Given the description of an element on the screen output the (x, y) to click on. 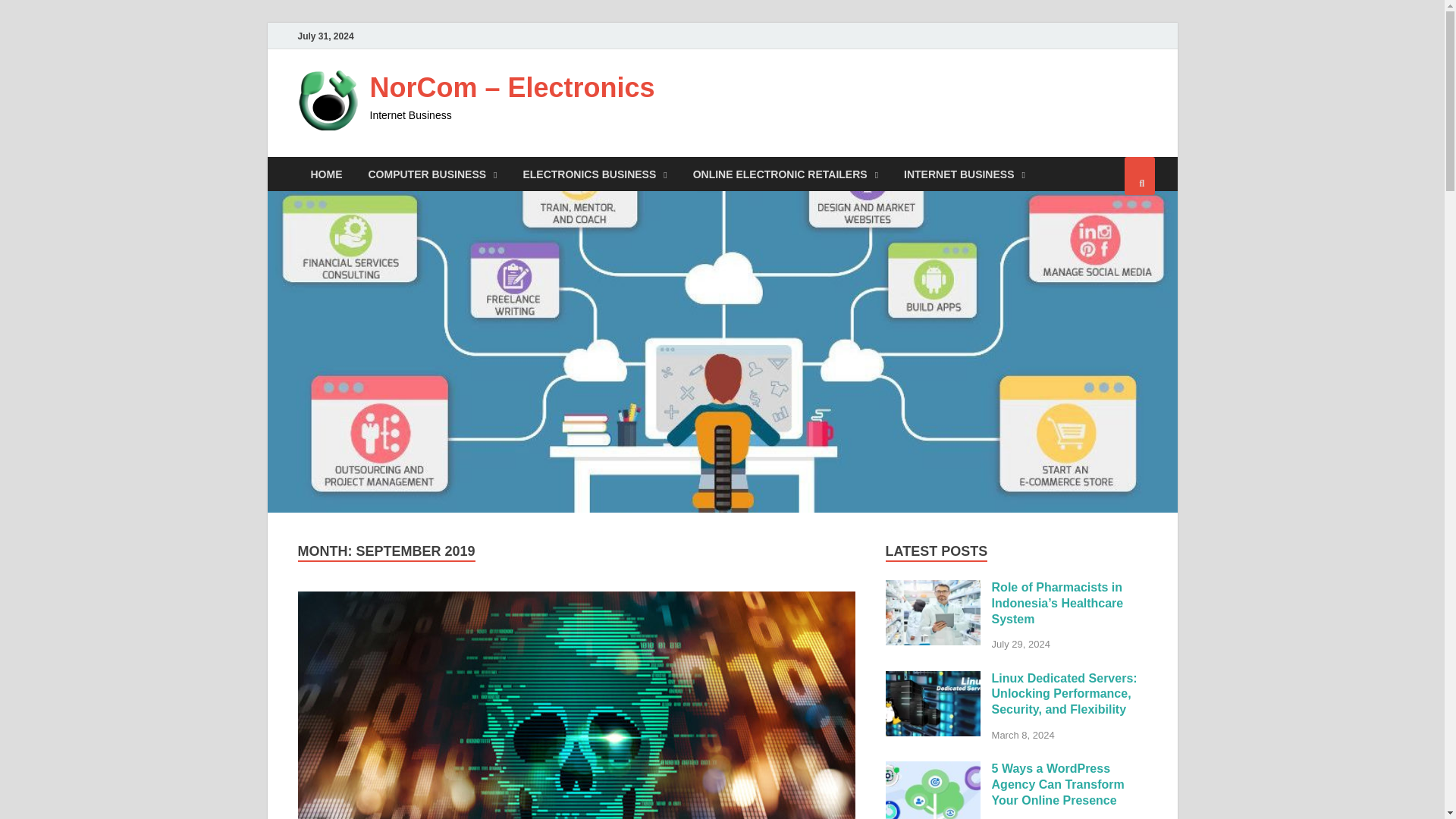
ELECTRONICS BUSINESS (594, 173)
Dangers of a Virus For a Business (575, 705)
INTERNET BUSINESS (964, 173)
HOME (326, 173)
COMPUTER BUSINESS (432, 173)
5 Ways a WordPress Agency Can Transform Your Online Presence (932, 769)
ONLINE ELECTRONIC RETAILERS (785, 173)
